Given the description of an element on the screen output the (x, y) to click on. 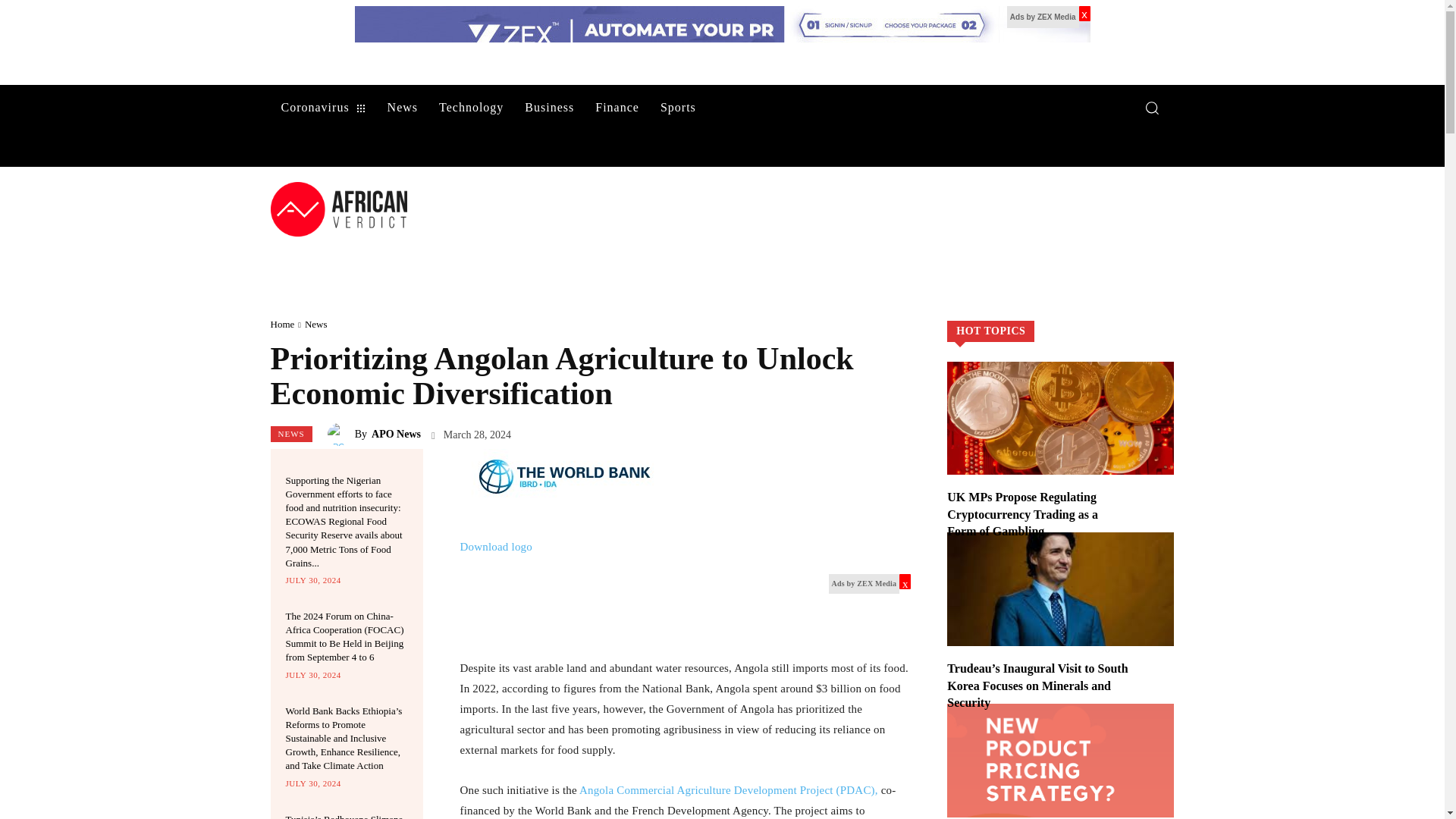
Coronavirus (322, 107)
News (402, 107)
Business (549, 107)
Finance (617, 107)
Sports (677, 107)
Technology (470, 107)
